Given the description of an element on the screen output the (x, y) to click on. 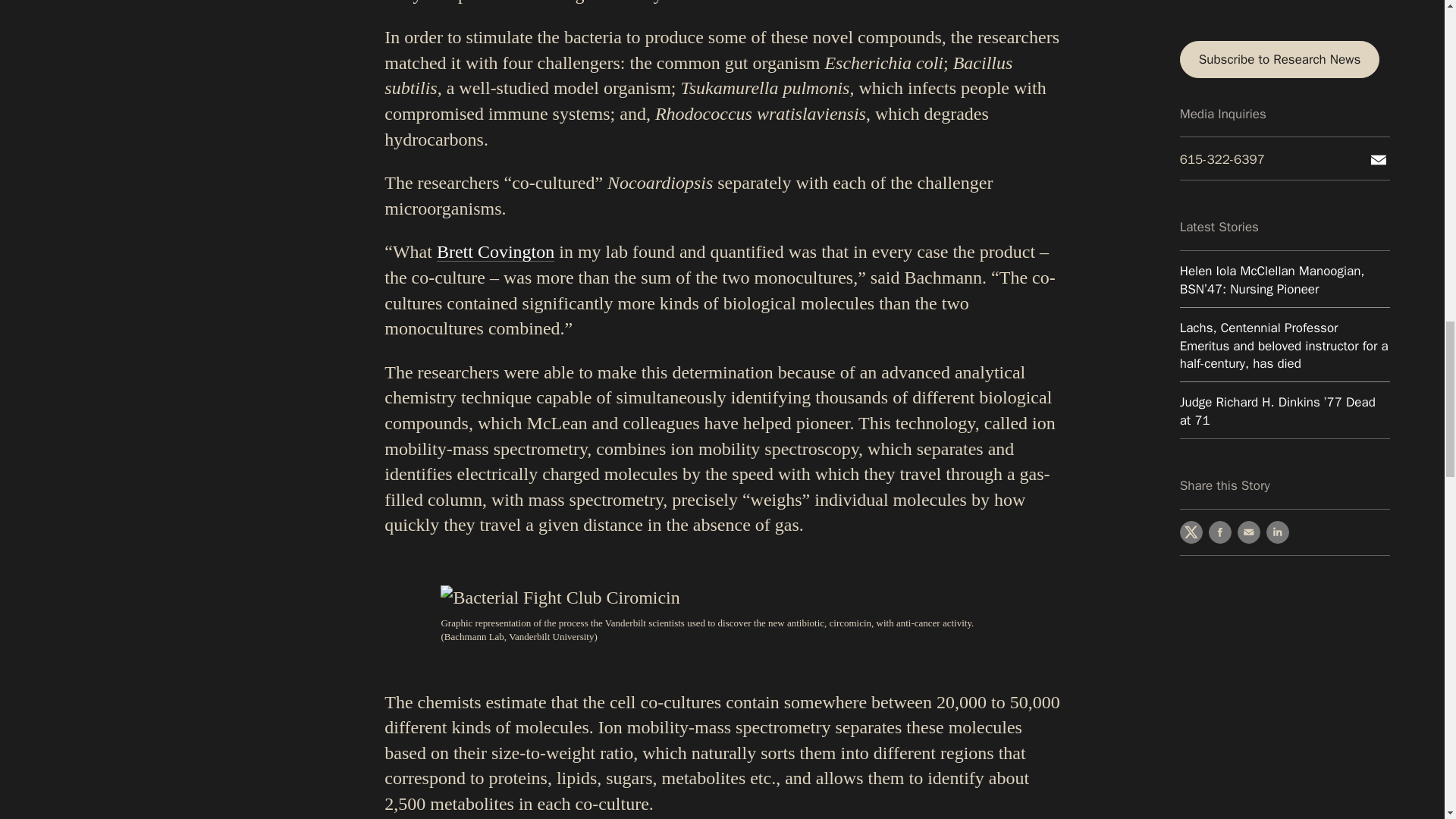
Circomicinfigure (560, 597)
Brett Covington (495, 251)
